Given the description of an element on the screen output the (x, y) to click on. 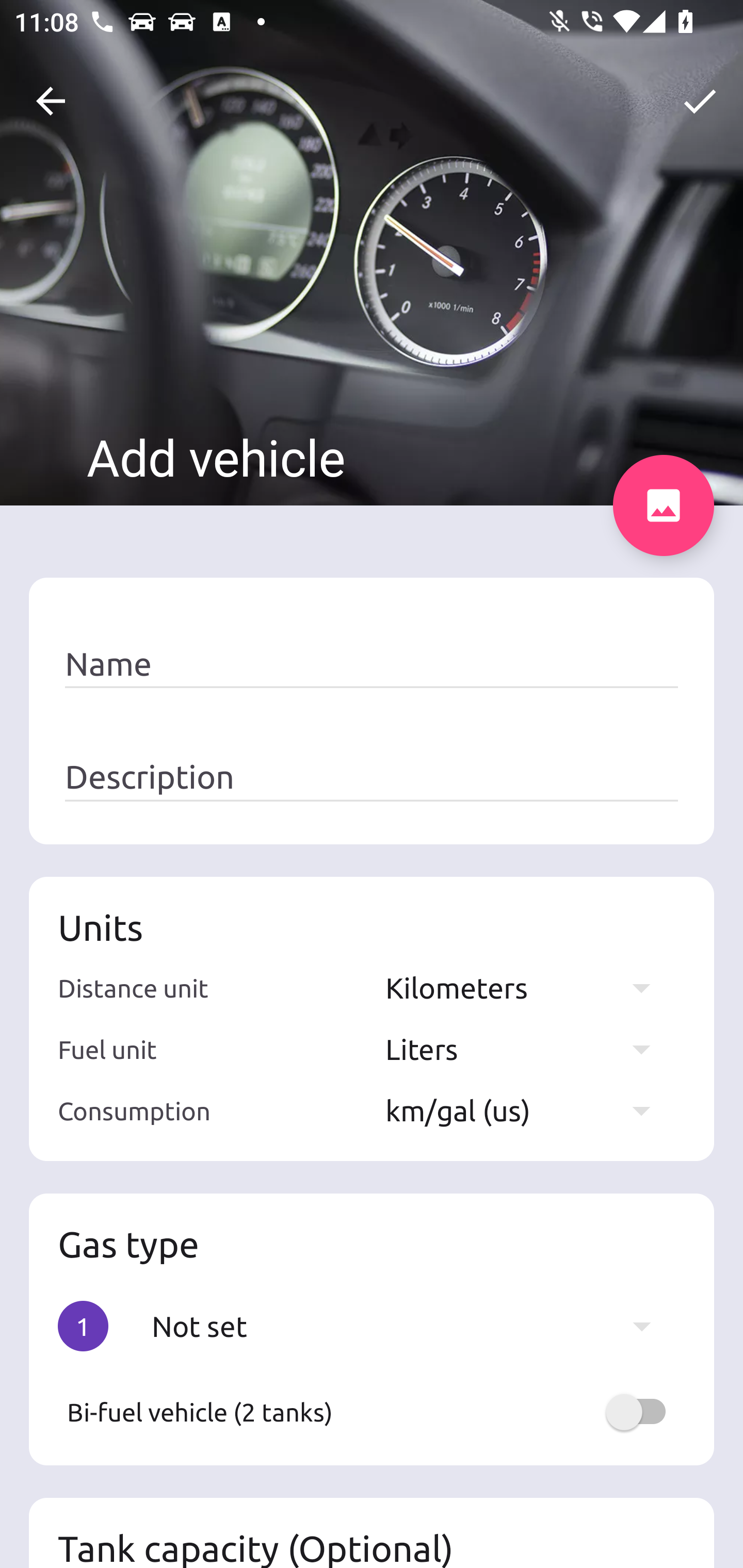
Navigate up (50, 101)
OK (699, 101)
Name (371, 664)
Description (371, 777)
Kilometers (527, 987)
Liters (527, 1048)
km/gal (us) (527, 1110)
Not set (411, 1325)
Bi-fuel vehicle (2 tanks) (371, 1411)
